Given the description of an element on the screen output the (x, y) to click on. 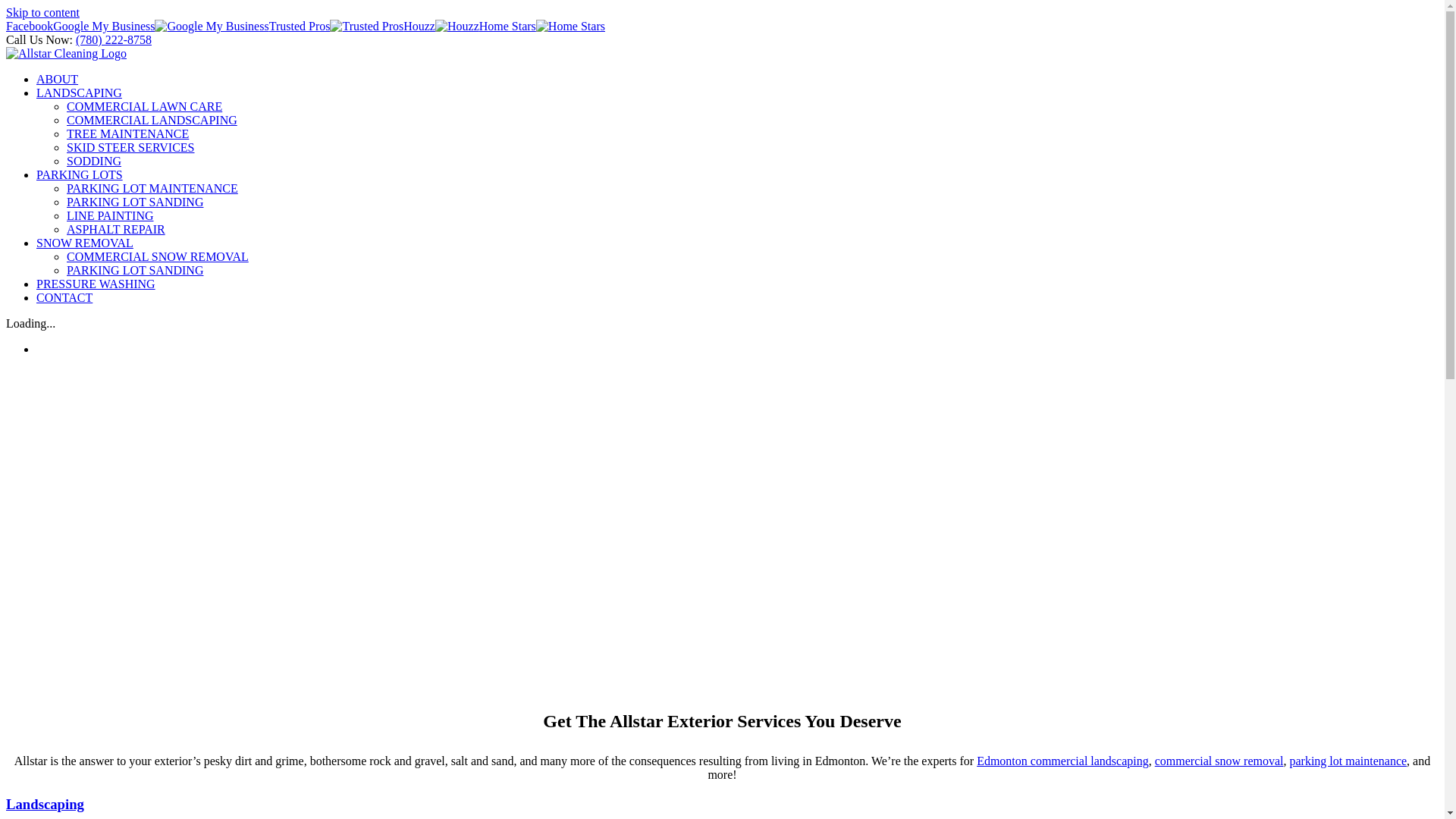
TREE MAINTENANCE Element type: text (127, 133)
(780) 222-8758 Element type: text (113, 39)
commercial snow removal Element type: text (1218, 760)
PARKING LOT MAINTENANCE Element type: text (152, 188)
Trusted Pros Element type: text (336, 25)
PARKING LOT SANDING Element type: text (134, 201)
SNOW REMOVAL Element type: text (84, 242)
ASPHALT REPAIR Element type: text (115, 228)
SKID STEER SERVICES Element type: text (130, 147)
PARKING LOTS Element type: text (79, 174)
SODDING Element type: text (93, 160)
parking lot maintenance Element type: text (1347, 760)
ABOUT Element type: text (57, 78)
PARKING LOT SANDING Element type: text (134, 269)
Facebook Element type: text (29, 25)
CONTACT Element type: text (64, 297)
Home Stars Element type: text (542, 25)
Houzz Element type: text (441, 25)
LINE PAINTING Element type: text (109, 215)
COMMERCIAL SNOW REMOVAL Element type: text (157, 256)
Google My Business Element type: text (160, 25)
COMMERCIAL LANDSCAPING Element type: text (151, 119)
Skip to content Element type: text (42, 12)
PRESSURE WASHING Element type: text (95, 283)
LANDSCAPING Element type: text (79, 92)
COMMERCIAL LAWN CARE Element type: text (144, 106)
Landscaping Element type: text (45, 804)
Edmonton commercial landscaping Element type: text (1062, 760)
